Given the description of an element on the screen output the (x, y) to click on. 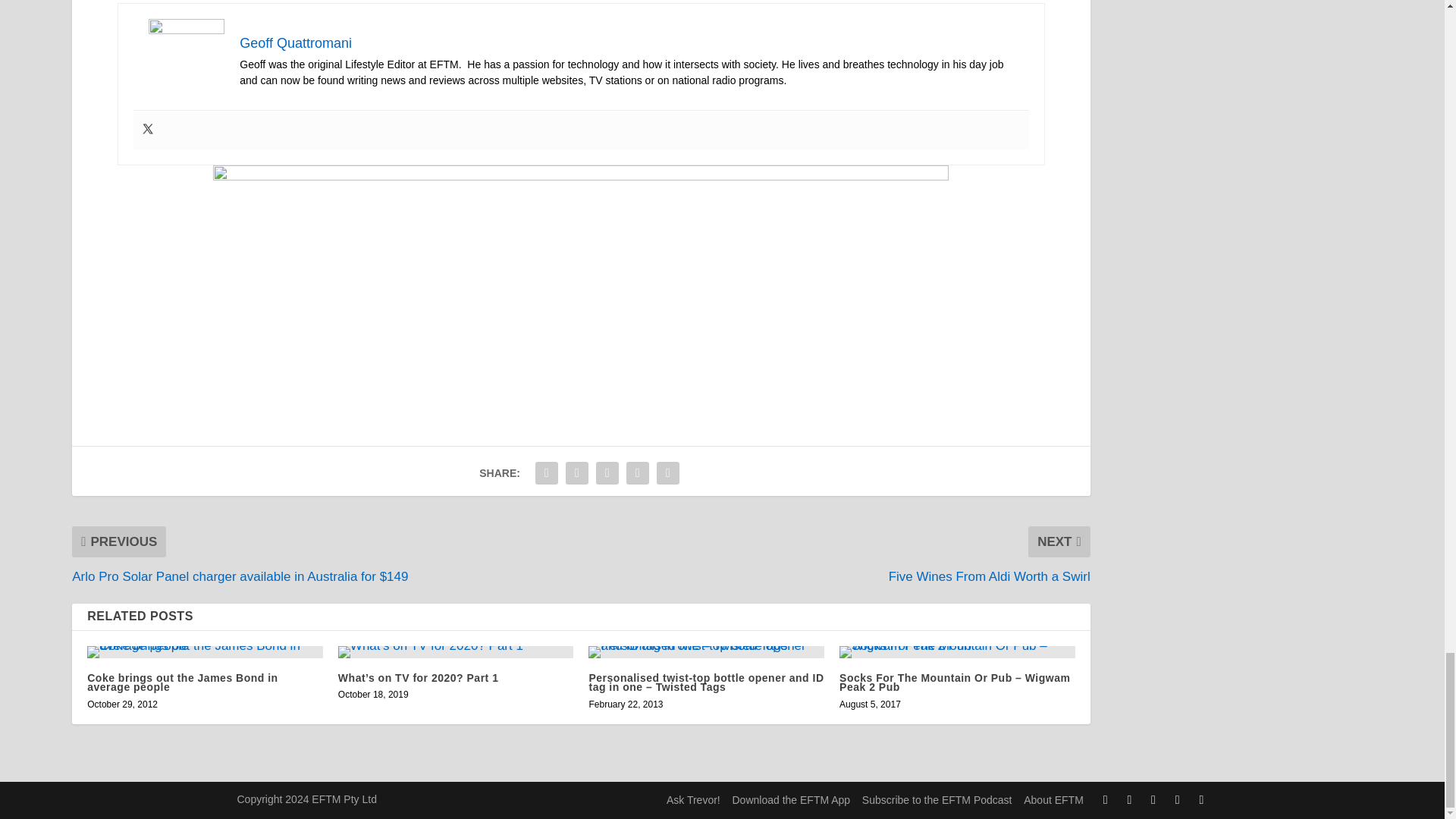
Geoff Quattromani (296, 43)
Coke brings out the James Bond in average people (205, 652)
